Given the description of an element on the screen output the (x, y) to click on. 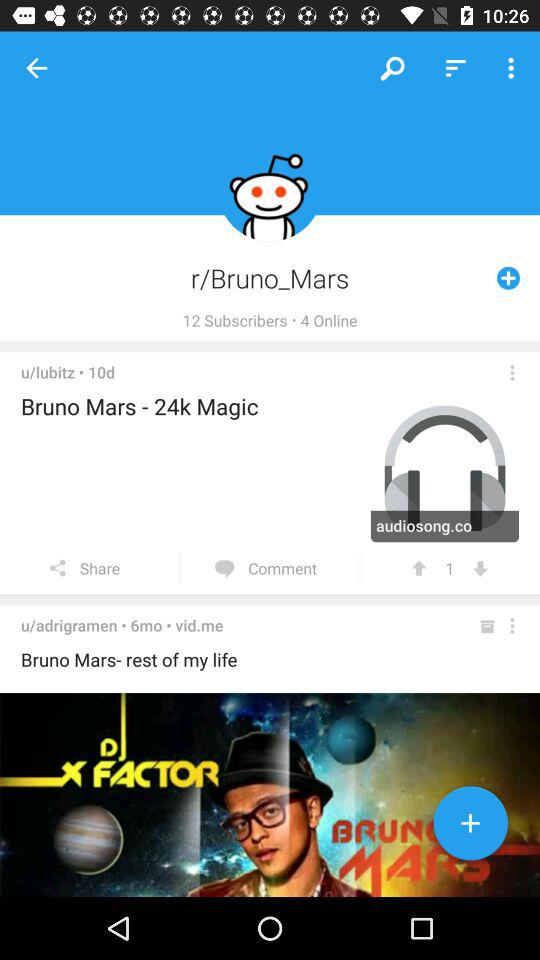
opens a menu of choices (512, 372)
